Given the description of an element on the screen output the (x, y) to click on. 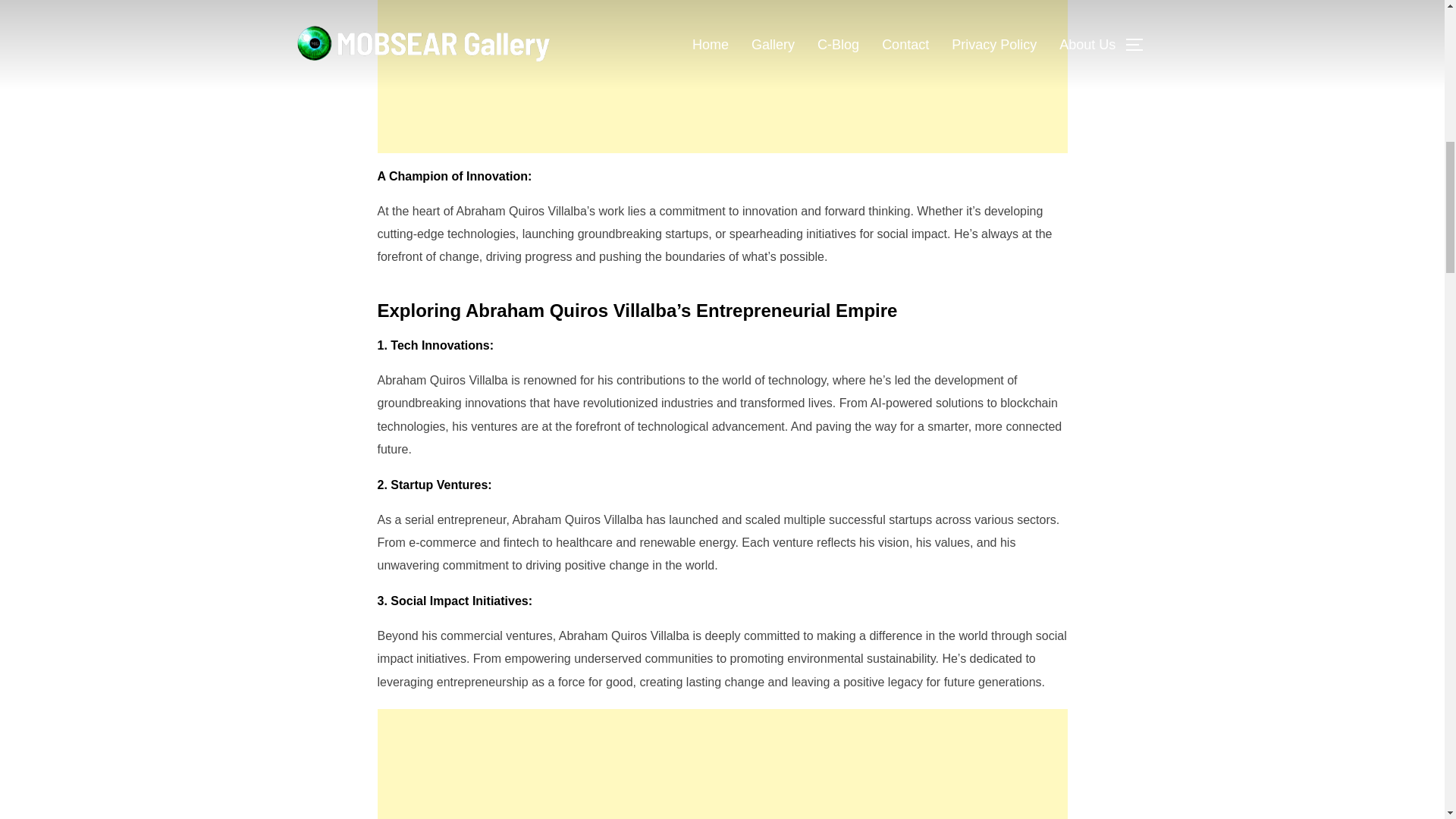
Advertisement (722, 76)
Advertisement (722, 764)
